Given the description of an element on the screen output the (x, y) to click on. 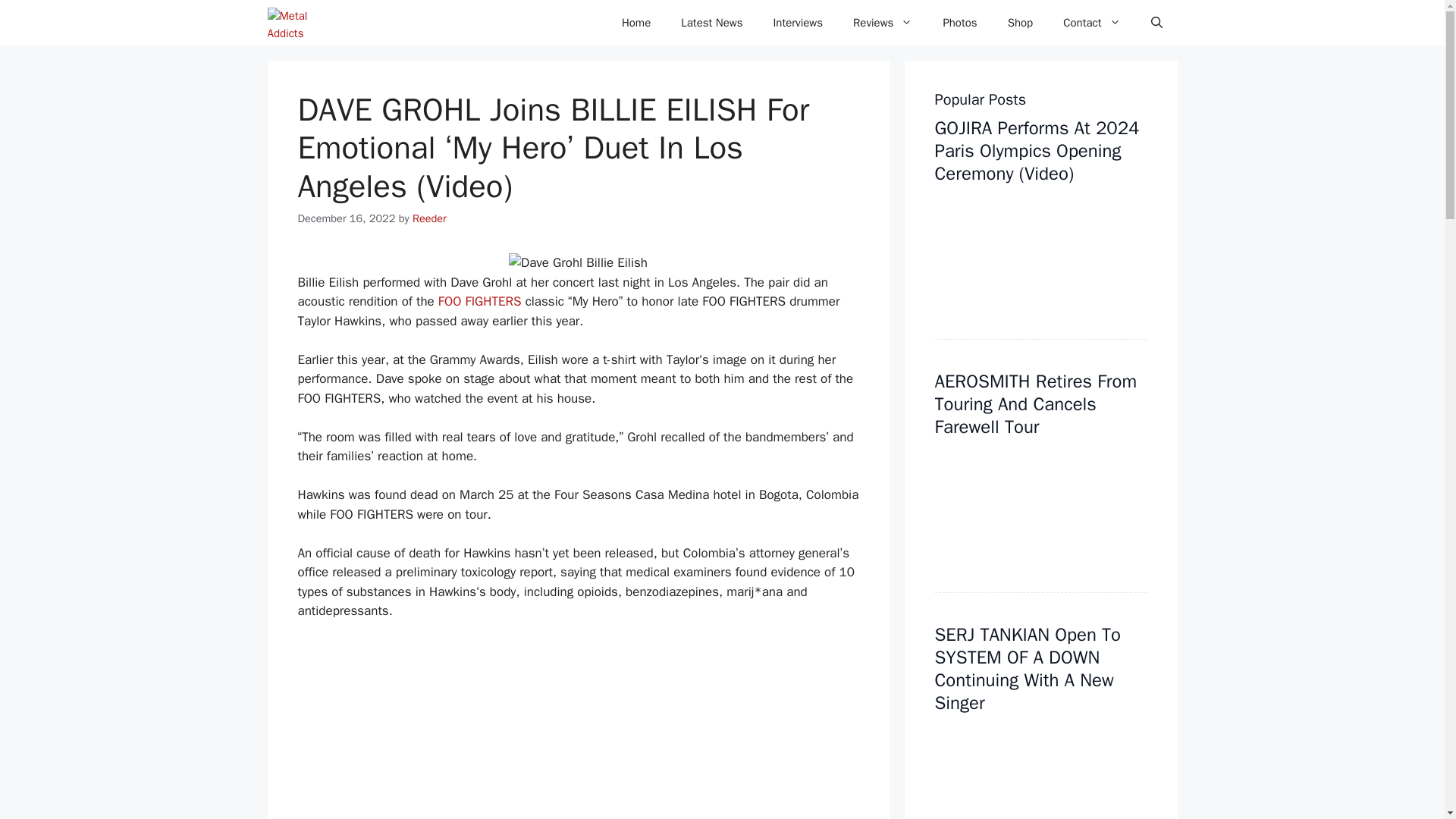
Reviews (882, 22)
Reeder (429, 218)
Metal Addicts Shop (1020, 22)
Latest News (711, 22)
View all posts by Reeder (429, 218)
FOO FIGHTERS (479, 301)
Photos (959, 22)
AEROSMITH Retires From Touring And Cancels Farewell Tour (1035, 404)
Metal Addicts (300, 22)
Interviews (797, 22)
Home (636, 22)
Shop (1020, 22)
Contact (1091, 22)
